Given the description of an element on the screen output the (x, y) to click on. 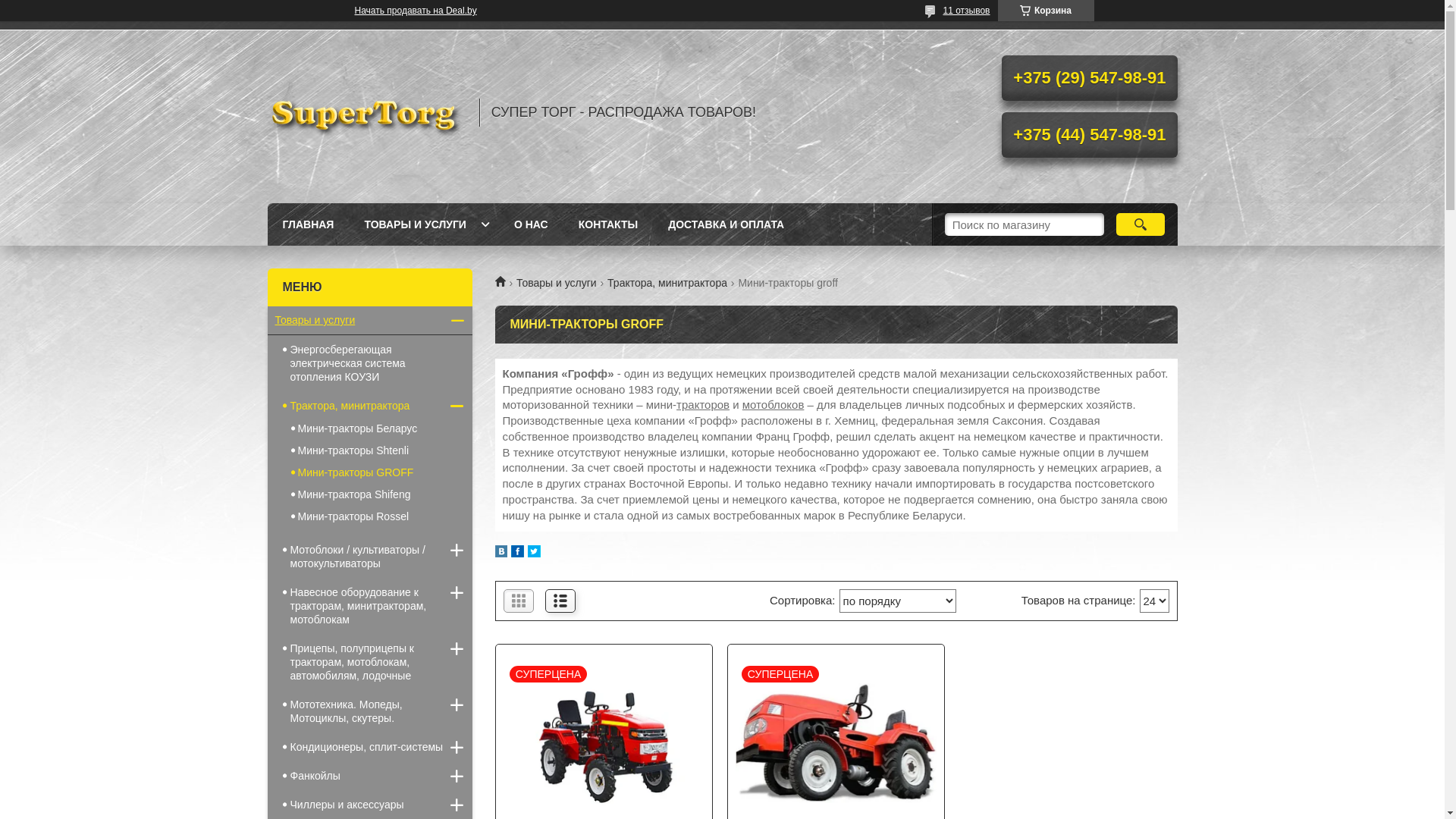
twitter Element type: hover (533, 552)
facebook Element type: hover (517, 552)
